Given the description of an element on the screen output the (x, y) to click on. 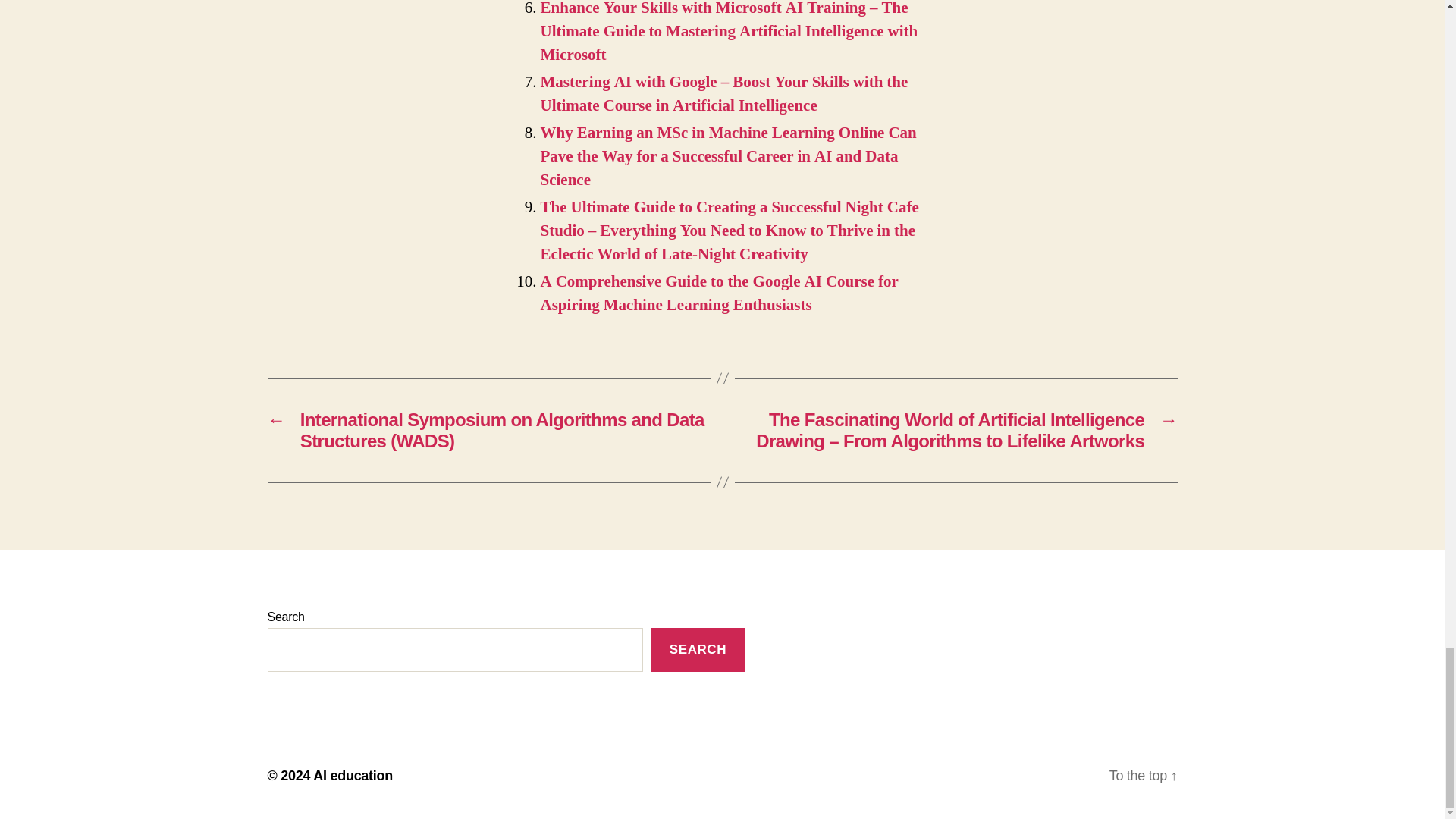
SEARCH (697, 650)
AI education (353, 775)
